Given the description of an element on the screen output the (x, y) to click on. 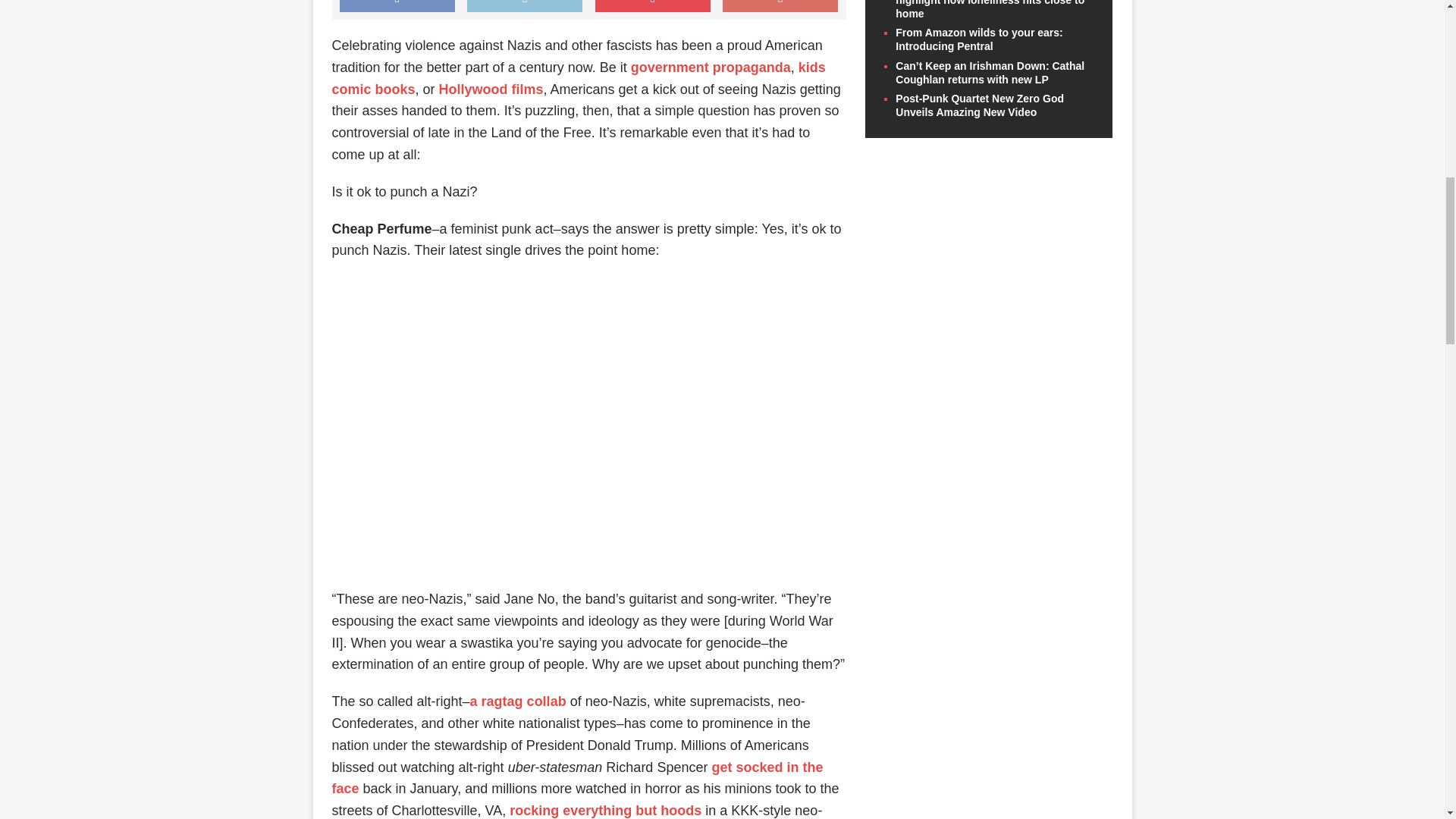
Hollywood films (491, 89)
get socked in the face (577, 778)
rocking everything but hoods (605, 810)
kids comic books (578, 78)
government propaganda (710, 67)
a ragtag collab (518, 701)
